Given the description of an element on the screen output the (x, y) to click on. 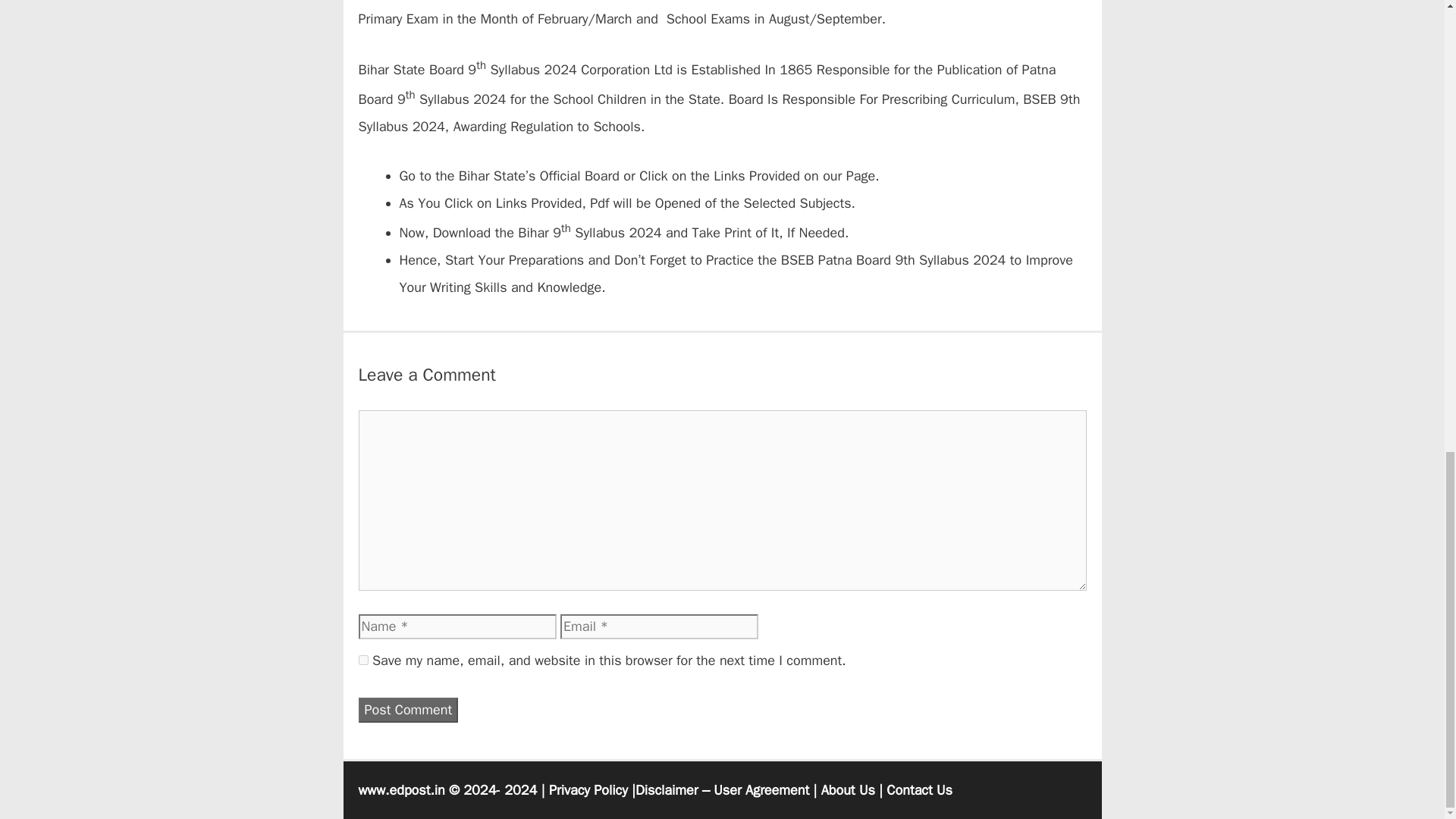
yes (363, 660)
About Us (848, 790)
Post Comment (408, 709)
Post Comment (408, 709)
Privacy Policy (587, 790)
Contact Us (919, 790)
